Given the description of an element on the screen output the (x, y) to click on. 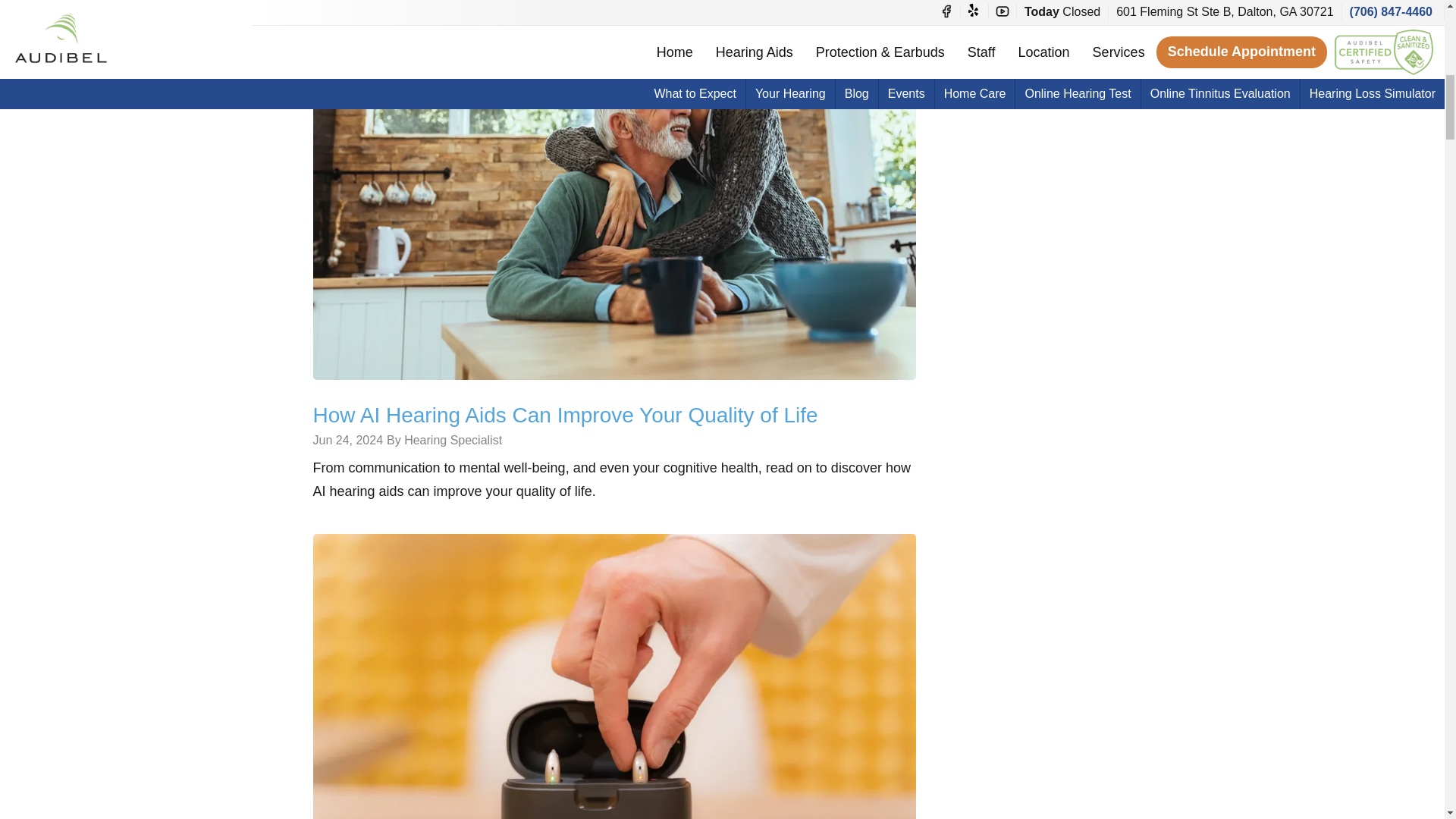
How AI Hearing Aids Can Improve Your Quality of Life (564, 414)
6 Benefits of Rechargeable Hearing Aids (614, 733)
How AI Hearing Aids Can Improve Your Quality of Life (614, 177)
